Given the description of an element on the screen output the (x, y) to click on. 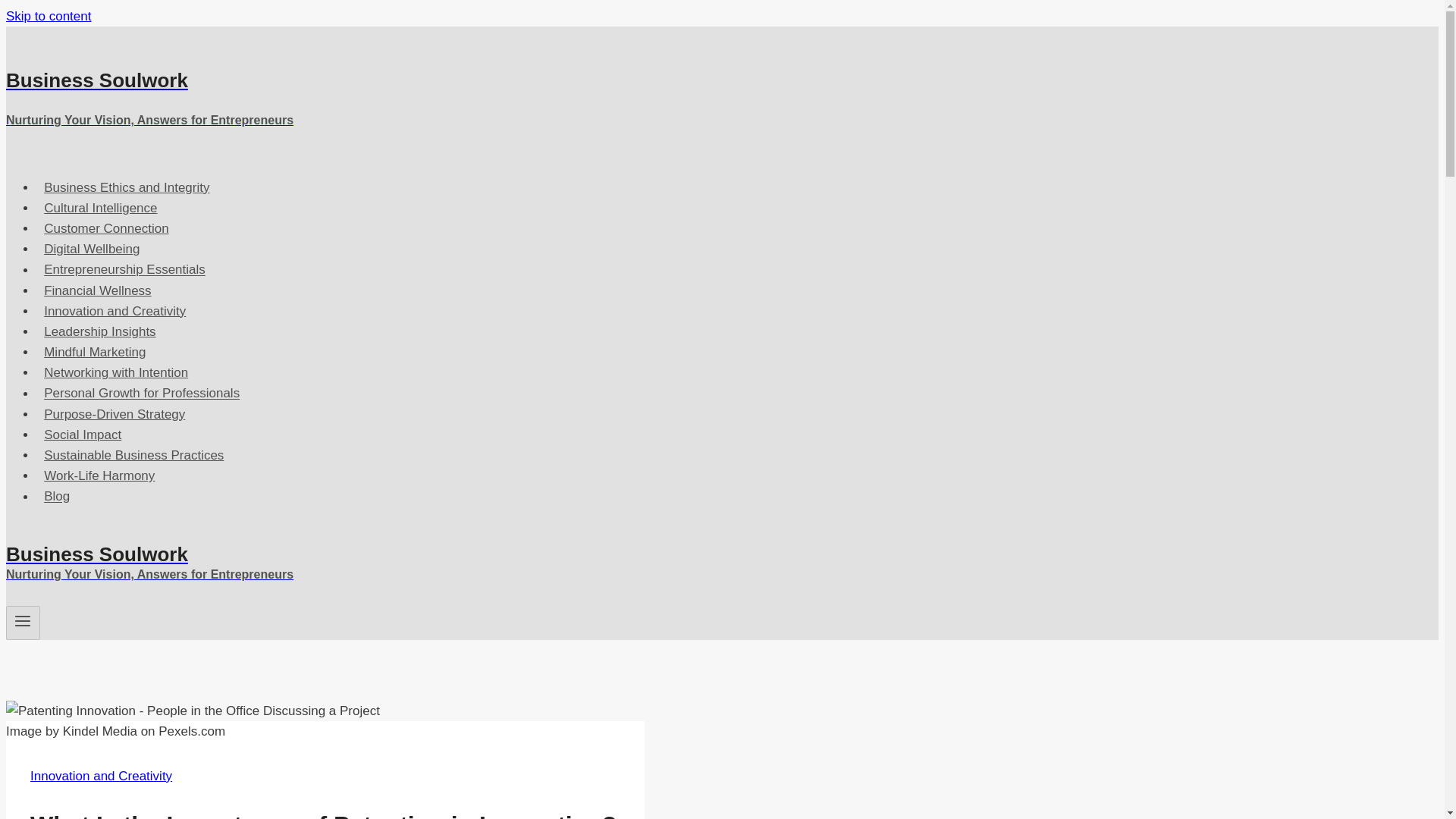
Blog (56, 496)
Work-Life Harmony (99, 475)
Digital Wellbeing (92, 248)
Sustainable Business Practices (133, 455)
Personal Growth for Professionals (141, 392)
Leadership Insights (99, 331)
Customer Connection (106, 228)
Toggle Menu (22, 622)
Financial Wellness (97, 290)
Entrepreneurship Essentials (124, 269)
Networking with Intention (115, 372)
Cultural Intelligence (100, 207)
Skip to content (47, 16)
